Given the description of an element on the screen output the (x, y) to click on. 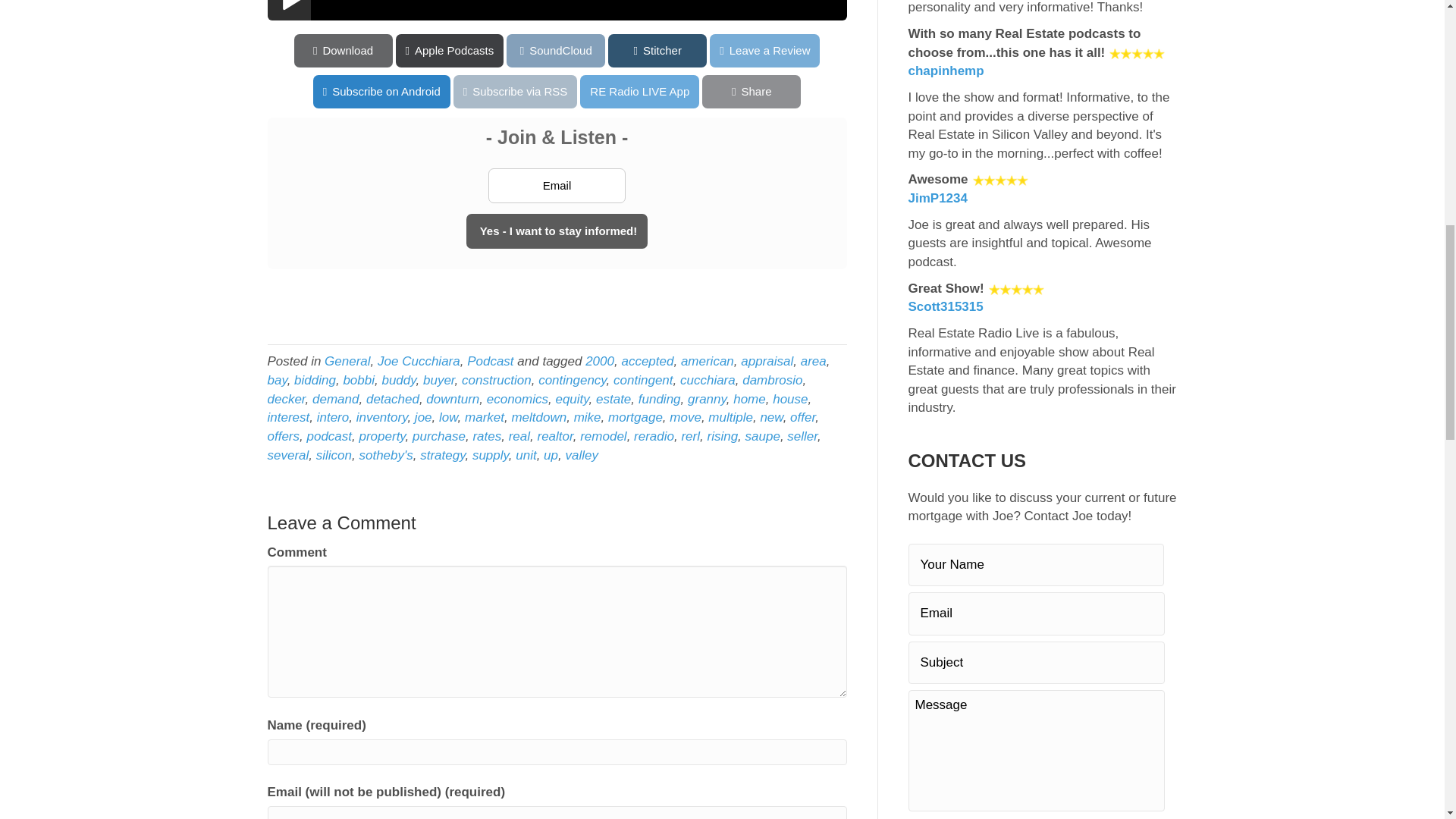
 Yes - I want to stay informed! (556, 230)
